Given the description of an element on the screen output the (x, y) to click on. 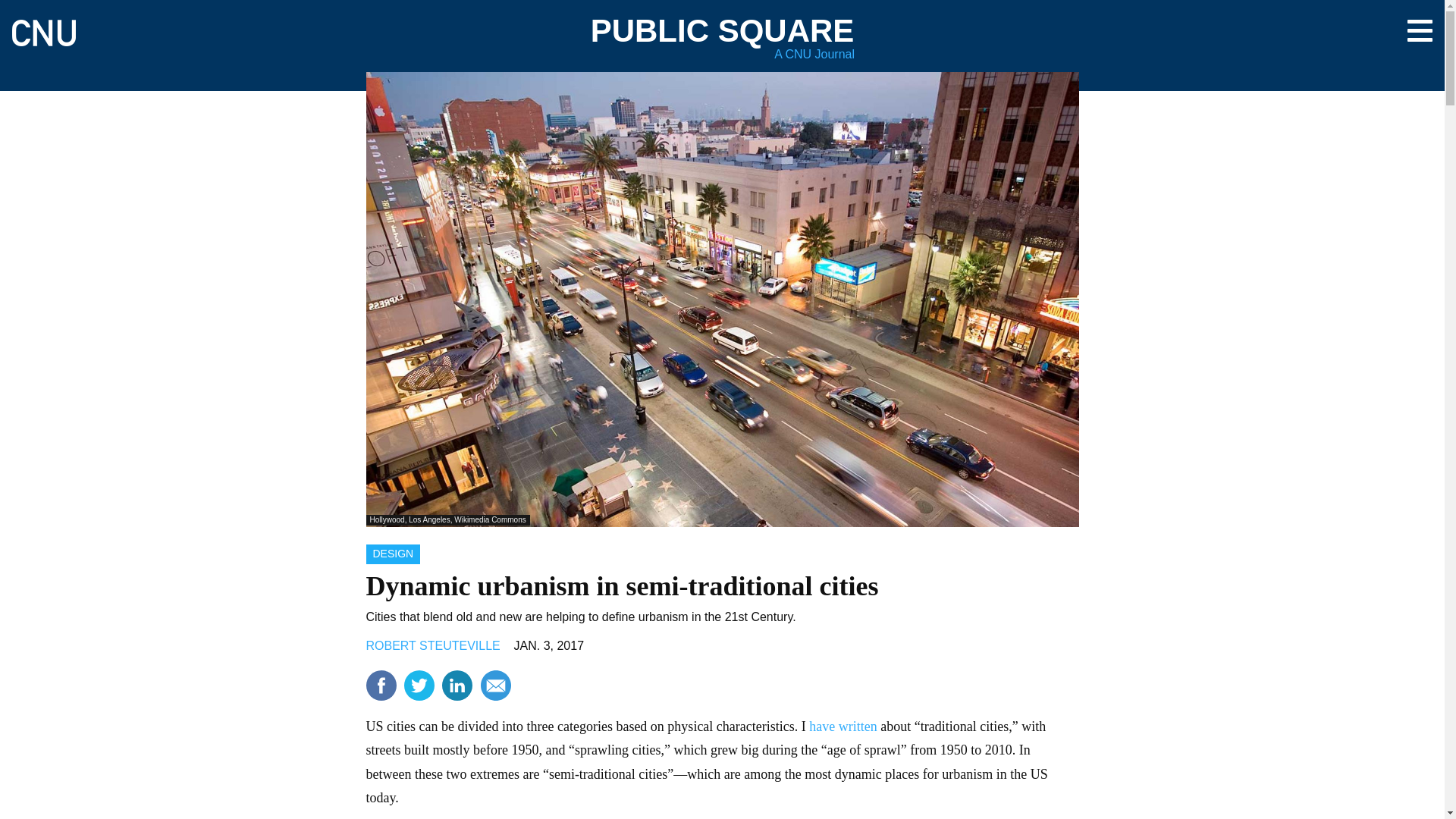
Facebook (380, 685)
Home (43, 25)
Twitter (418, 685)
PUBLIC SQUARE (722, 30)
DESIGN (392, 554)
have written (842, 726)
ROBERT STEUTEVILLE (432, 645)
Toggle navigation (1419, 30)
MailTo (495, 685)
LinkedIn (456, 685)
